Given the description of an element on the screen output the (x, y) to click on. 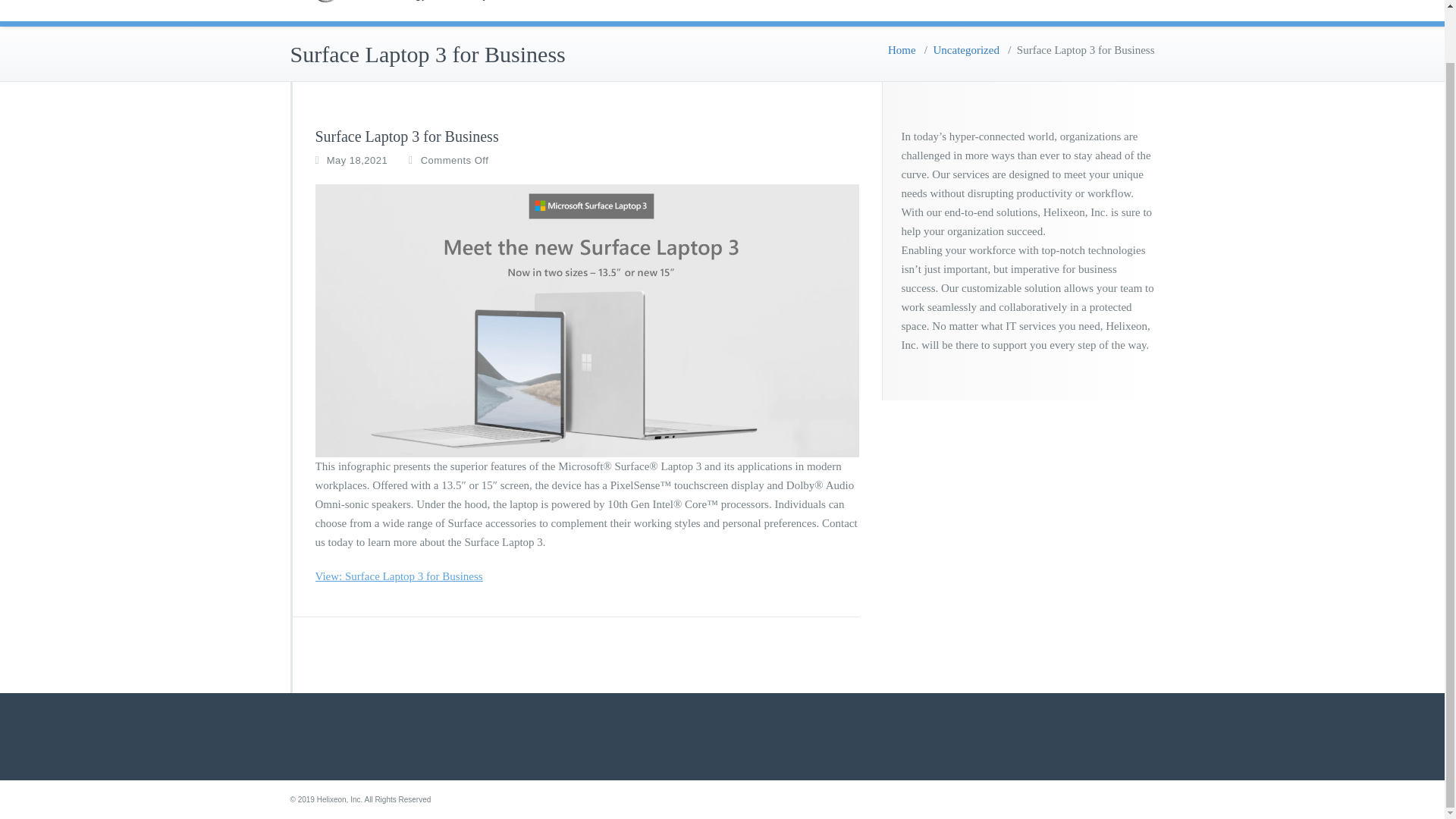
Uncategorized (965, 50)
May 18,2021 (357, 160)
View: Surface Laptop 3 for Business (399, 576)
About Us (1020, 7)
Home (944, 7)
Home (901, 50)
Contact Us (1108, 7)
